Given the description of an element on the screen output the (x, y) to click on. 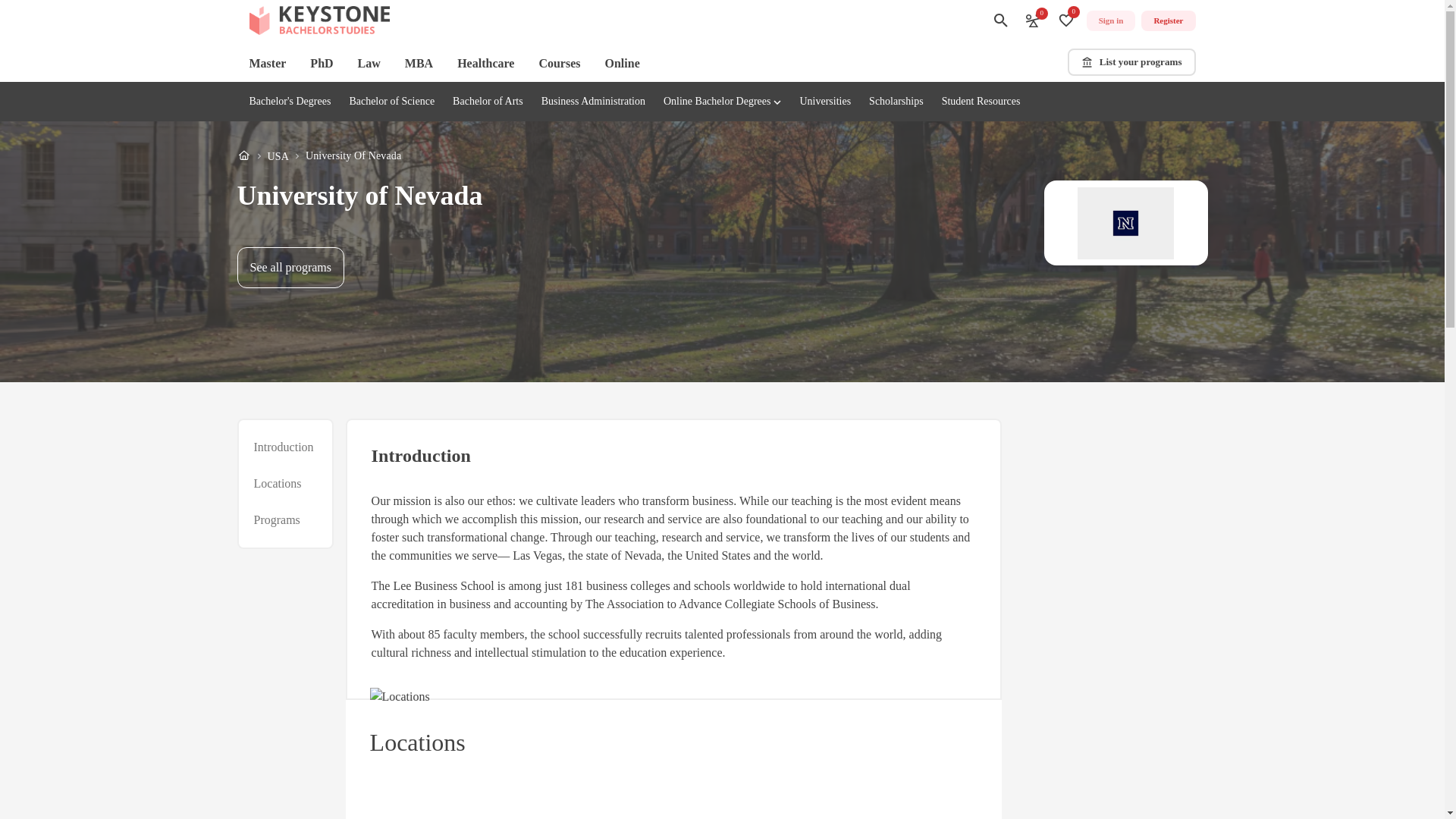
Online (622, 63)
Sign in (1110, 20)
Scholarships (896, 101)
Locations (277, 484)
Register (1168, 20)
Healthcare (485, 63)
0 (1032, 20)
USA (277, 156)
Bachelor's Degrees (289, 101)
0 (1066, 20)
